Given the description of an element on the screen output the (x, y) to click on. 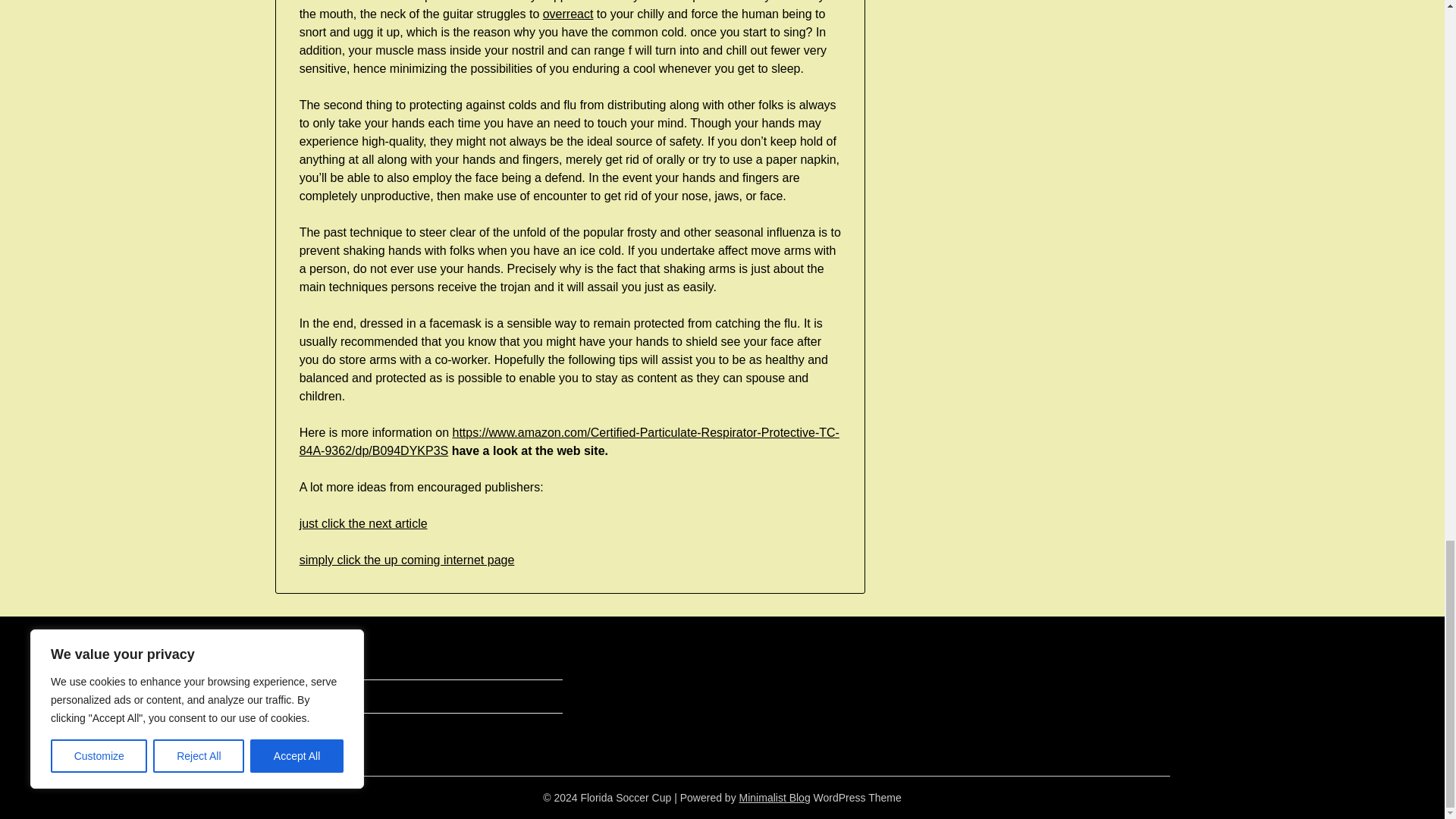
simply click the up coming internet page (407, 559)
just click the next article (363, 522)
overreact (568, 13)
